Given the description of an element on the screen output the (x, y) to click on. 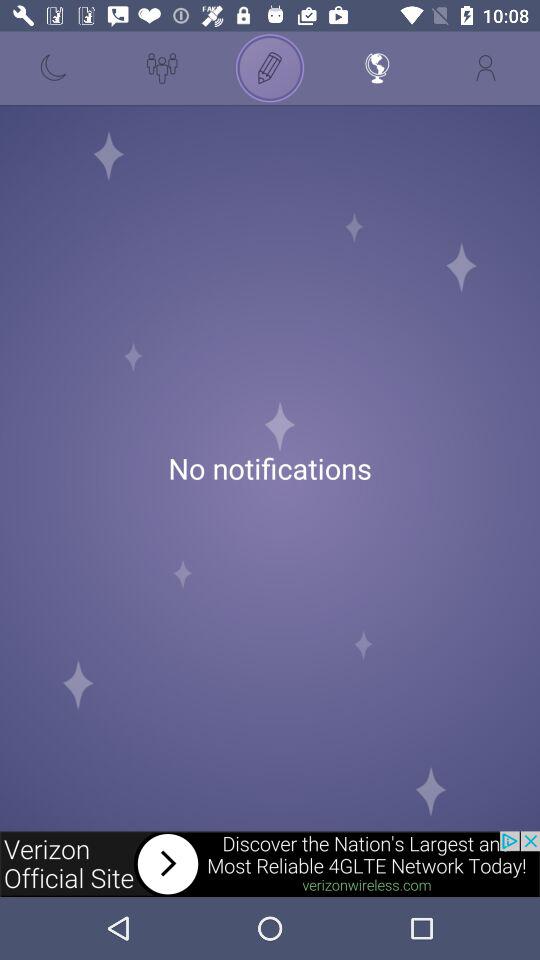
edit the text (269, 68)
